Given the description of an element on the screen output the (x, y) to click on. 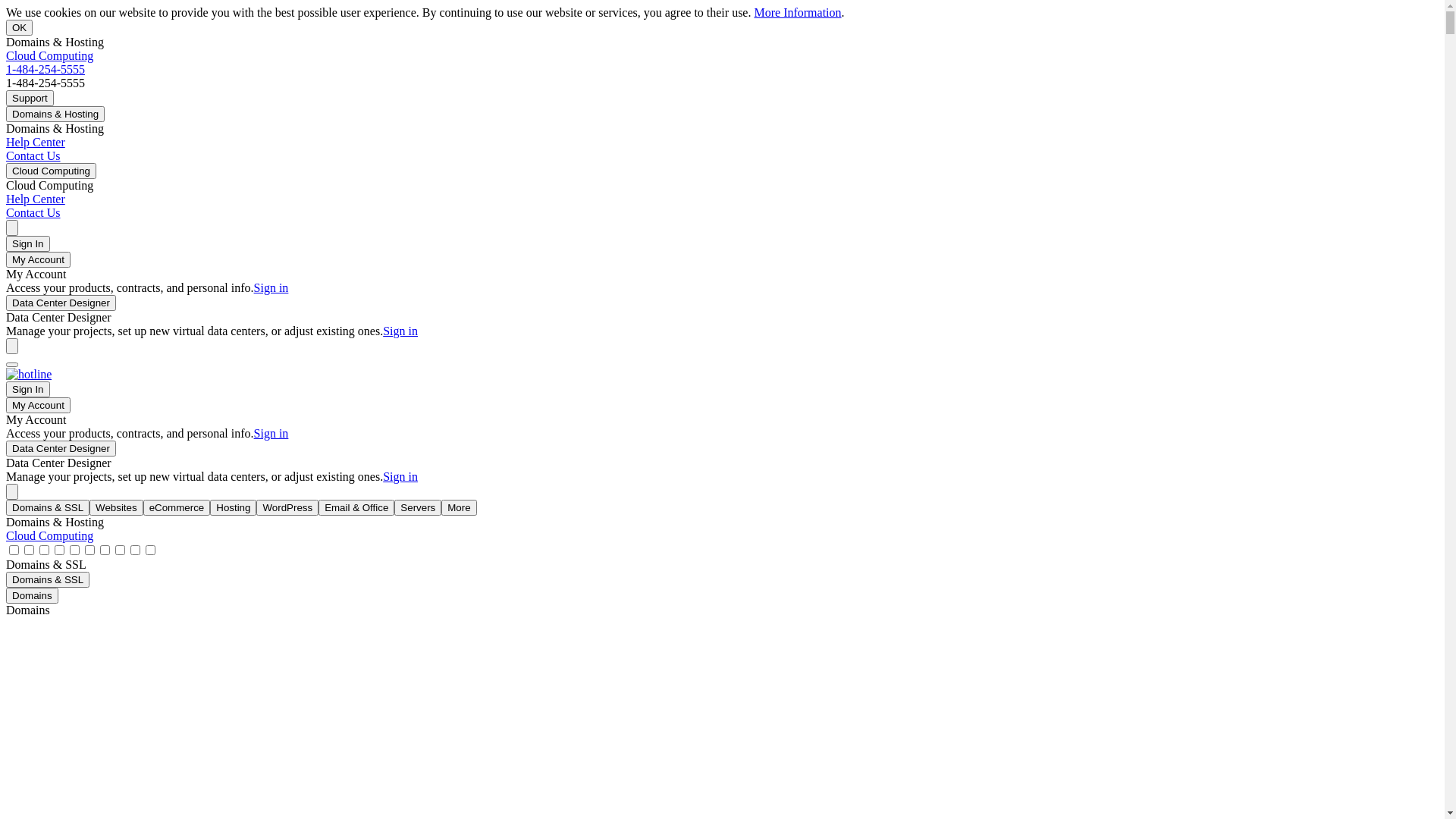
Help Center Element type: text (35, 141)
eCommerce Element type: text (176, 507)
Support Element type: text (29, 98)
Hosting Element type: text (233, 507)
Contact Us Element type: text (33, 212)
Sign in Element type: text (271, 432)
Domains & SSL Element type: text (47, 507)
OK Element type: text (19, 27)
Websites Element type: text (116, 507)
More Element type: text (458, 507)
Sign In Element type: text (28, 243)
Sign in Element type: text (399, 476)
Email & Office Element type: text (356, 507)
My Account Element type: text (38, 259)
1-484-254-5555 Element type: text (45, 68)
Domains & SSL Element type: text (47, 579)
Servers Element type: text (417, 507)
Cloud Computing Element type: text (51, 170)
Cloud Computing Element type: text (49, 535)
More Information Element type: text (796, 12)
1-484-254-5555 Element type: hover (28, 373)
Data Center Designer Element type: text (61, 448)
Cloud Computing Element type: text (49, 55)
My Account Element type: text (38, 405)
Data Center Designer Element type: text (61, 302)
Domains & Hosting Element type: text (55, 114)
Sign in Element type: text (271, 287)
Contact Us Element type: text (33, 155)
Help Center Element type: text (35, 198)
WordPress Element type: text (287, 507)
Domains Element type: text (32, 595)
Sign In Element type: text (28, 389)
Sign in Element type: text (399, 330)
